Given the description of an element on the screen output the (x, y) to click on. 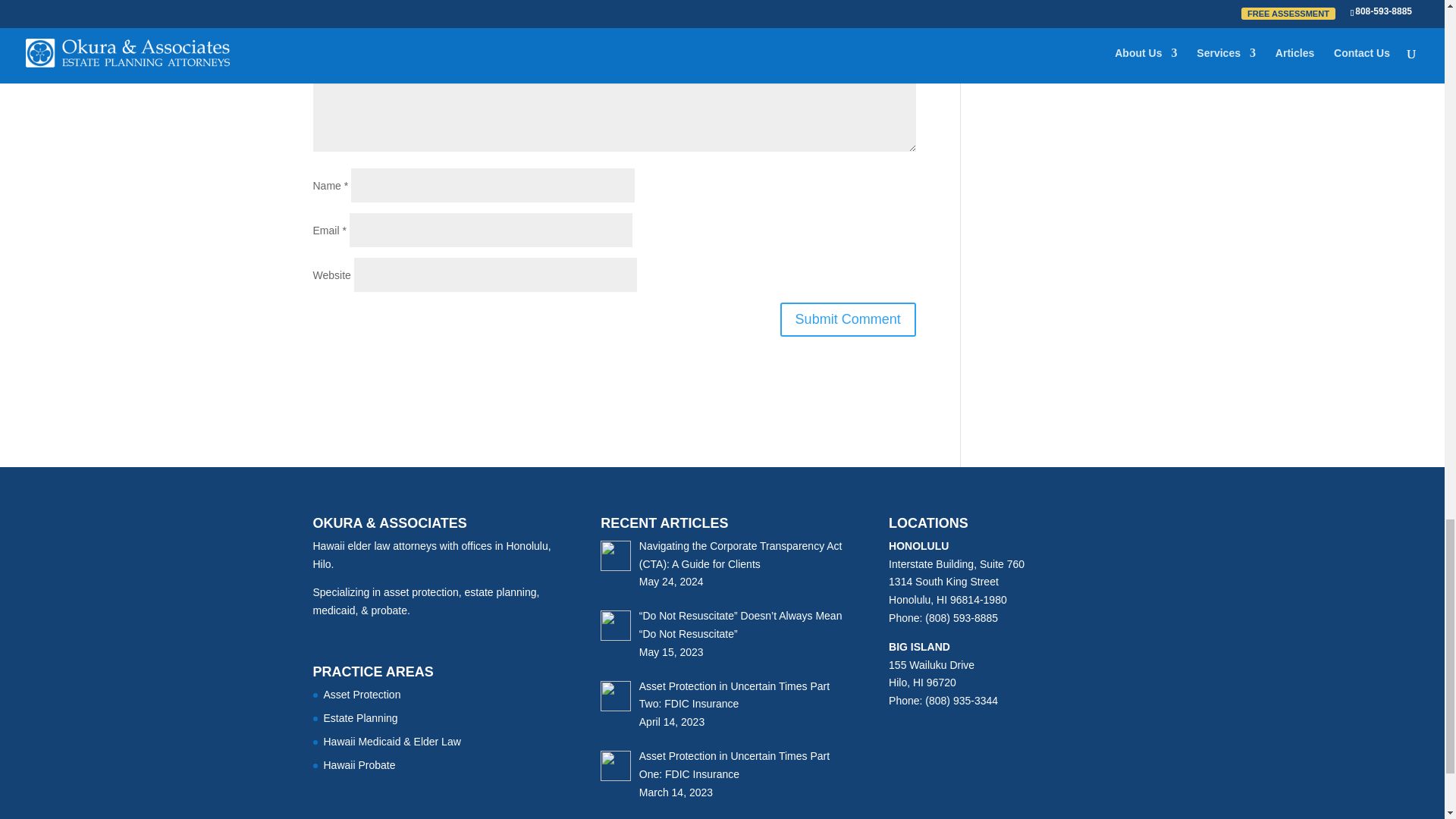
Submit Comment (847, 319)
Asset Protection in Uncertain Times Part Two: FDIC Insurance (734, 695)
Asset Protection in Uncertain Times Part One: FDIC Insurance (734, 765)
Asset Protection (361, 694)
Submit Comment (847, 319)
Estate Planning (360, 717)
Hawaii Probate (358, 765)
